Given the description of an element on the screen output the (x, y) to click on. 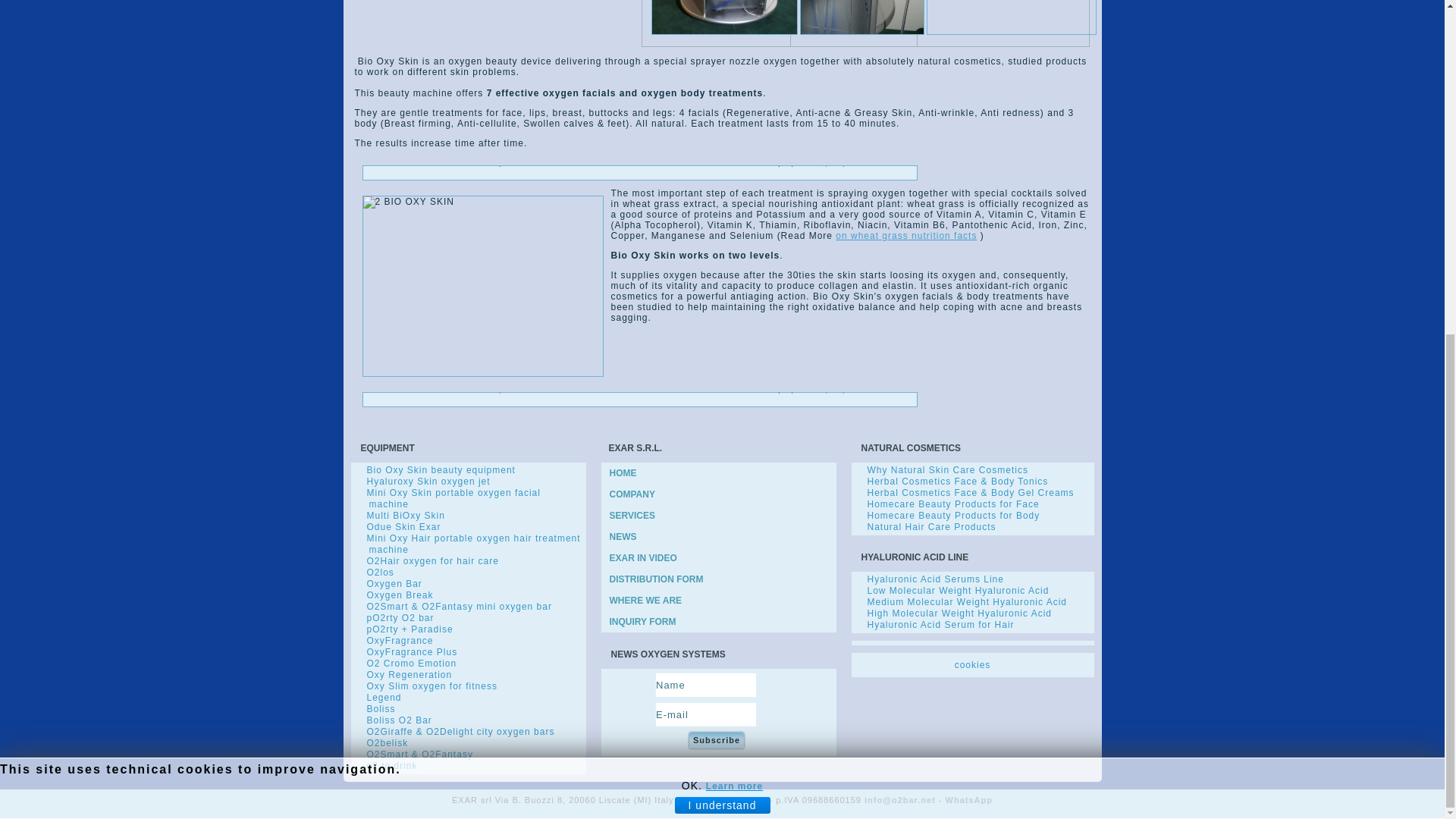
Oxygen Bar (394, 583)
Bio Oxy Skin beauty equipment (440, 470)
OxyFragrance (399, 640)
Hyaluroxy Skin oxygen jet (428, 480)
Legend (383, 697)
OxyFragrance Plus (412, 652)
Boliss (381, 708)
Oxy Slim oxygen for fitness (431, 685)
Odue Skin Exar (403, 526)
E-mail (705, 714)
